Given the description of an element on the screen output the (x, y) to click on. 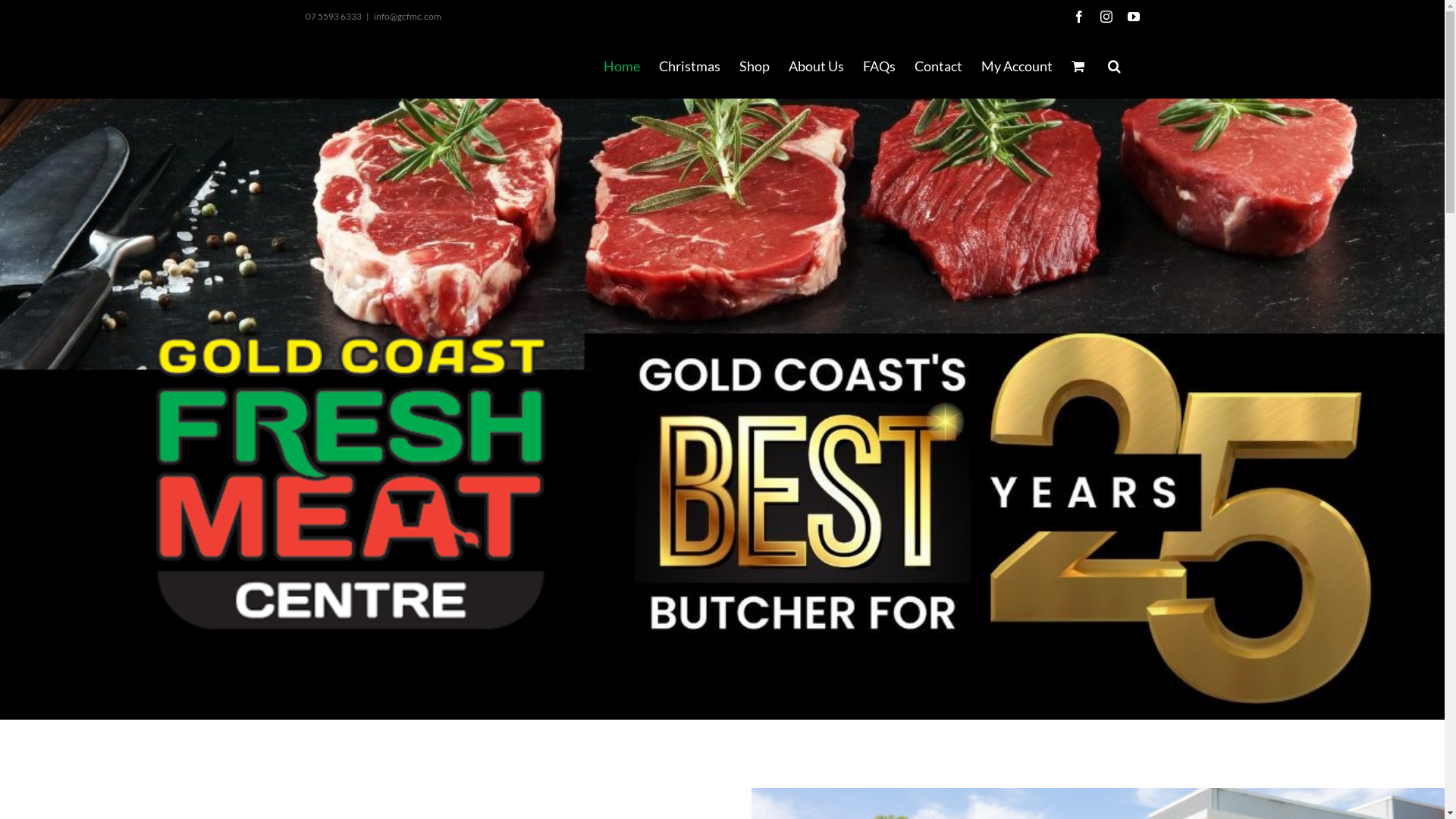
Contact Element type: text (938, 65)
FAQs Element type: text (878, 65)
Christmas Element type: text (688, 65)
YouTube Element type: text (1132, 16)
info@gcfmc.com Element type: text (406, 15)
About Us Element type: text (816, 65)
Shop Element type: text (753, 65)
Search Element type: hover (1113, 65)
My Account Element type: text (1016, 65)
Instagram Element type: text (1105, 16)
Log In Element type: text (1075, 211)
Home Element type: text (621, 65)
Facebook Element type: text (1078, 16)
